Given the description of an element on the screen output the (x, y) to click on. 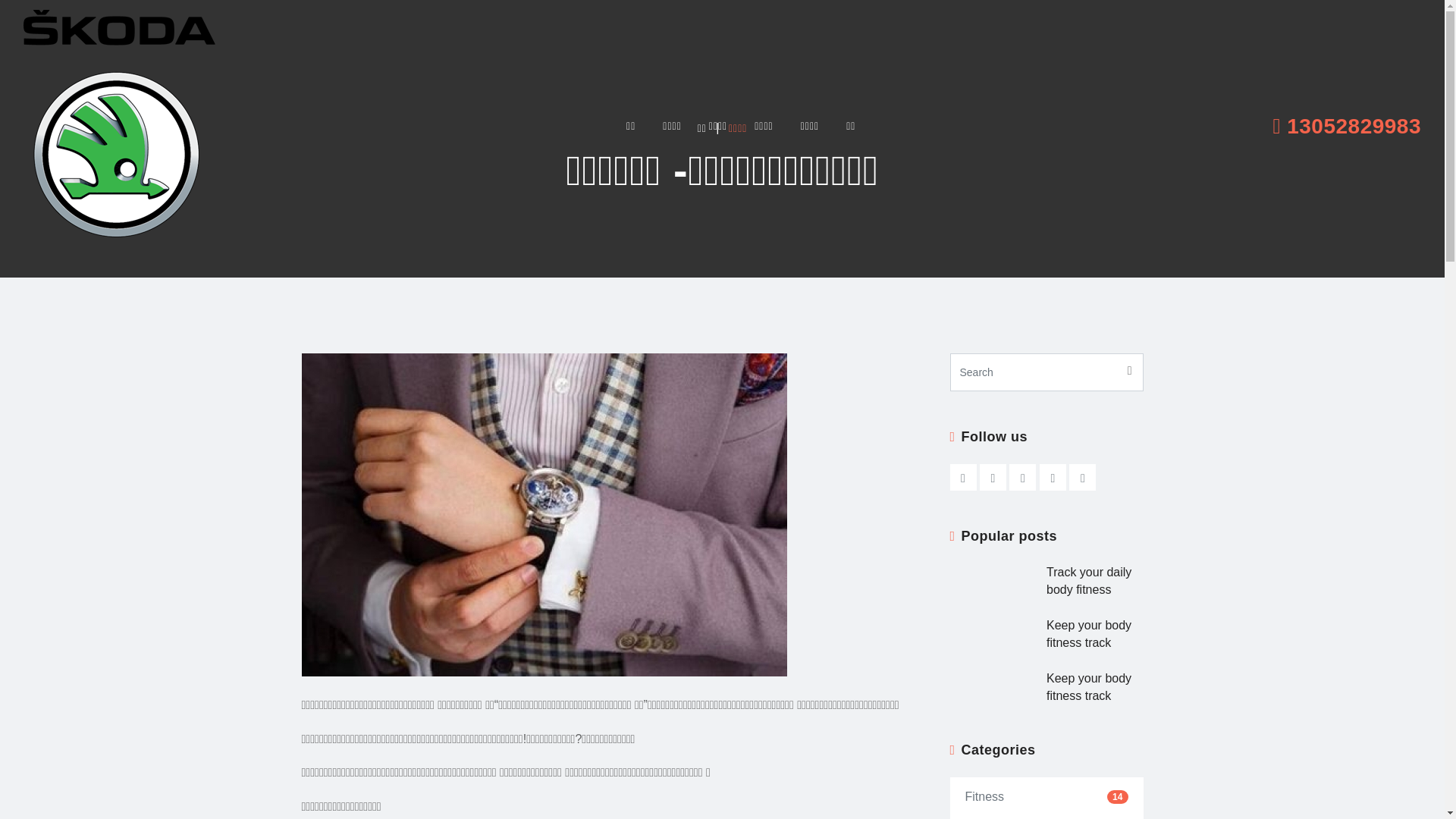
13052829983 Element type: text (1346, 126)
Keep your body fitness track Element type: text (1094, 633)
Fitness Element type: text (984, 797)
Track your daily body fitness Element type: text (1094, 580)
Keep your body fitness track Element type: text (1094, 686)
